Given the description of an element on the screen output the (x, y) to click on. 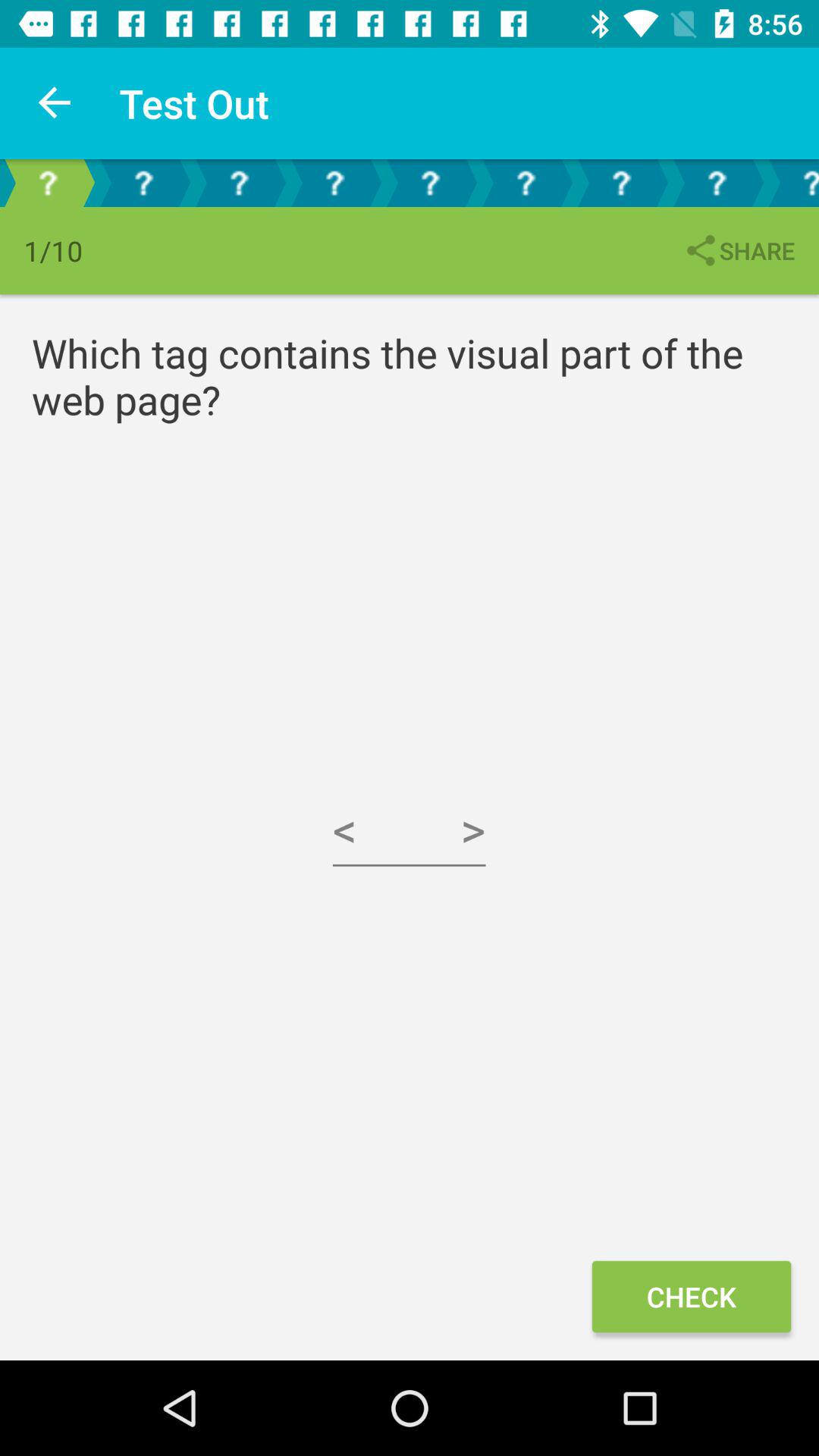
question selection (716, 183)
